Given the description of an element on the screen output the (x, y) to click on. 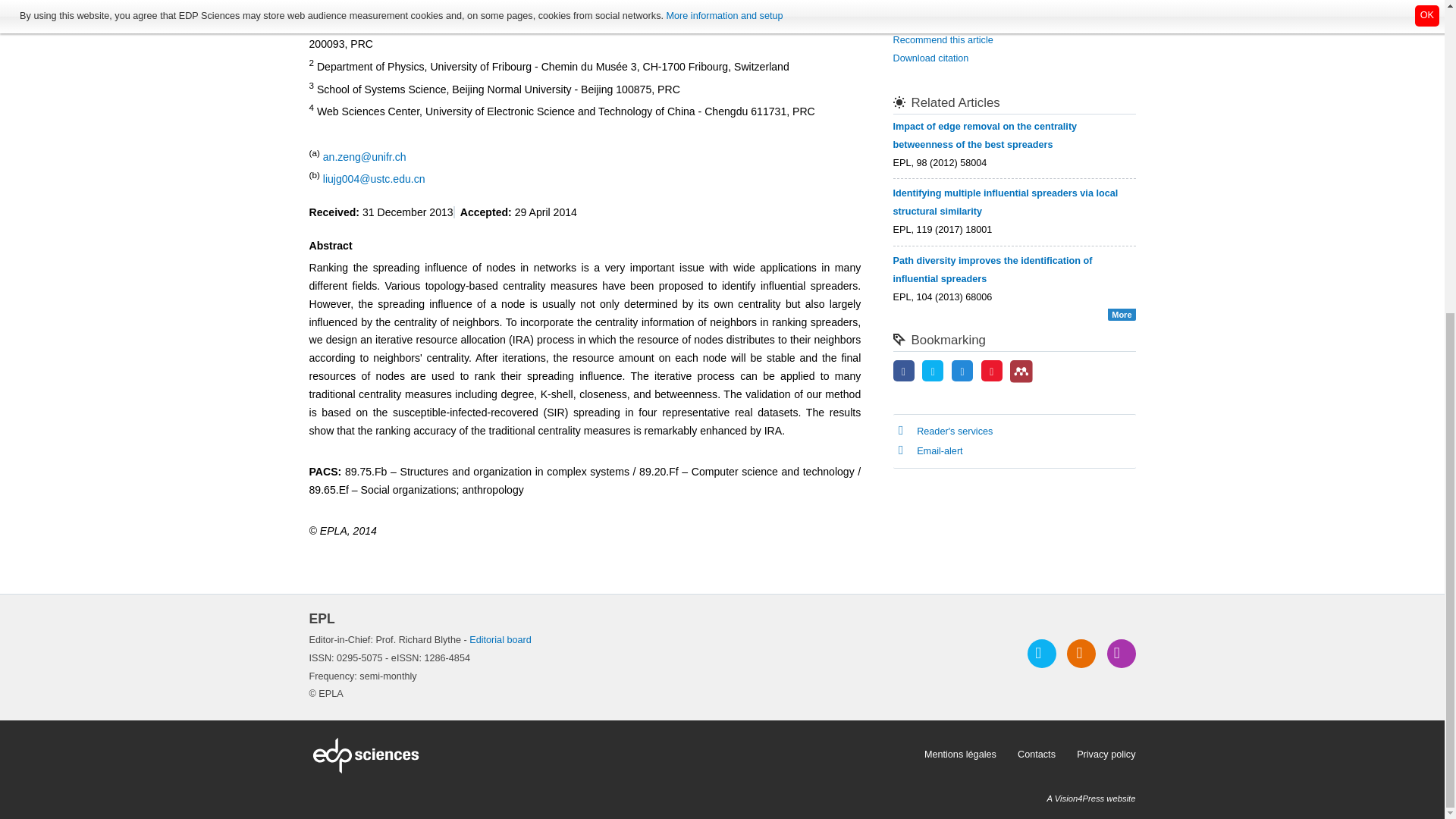
Share on Twitter (932, 371)
Follow us on Twitter (1042, 653)
Register to the journal email alert (1120, 653)
Mendeley (1021, 371)
Share on LinkedIn (962, 371)
Share on Facebook (903, 371)
Share on Sina Weibo (992, 371)
Add this article to your Mendeley library (1021, 379)
Access our RSS feeds (1081, 653)
EDP Sciences website (611, 754)
